Given the description of an element on the screen output the (x, y) to click on. 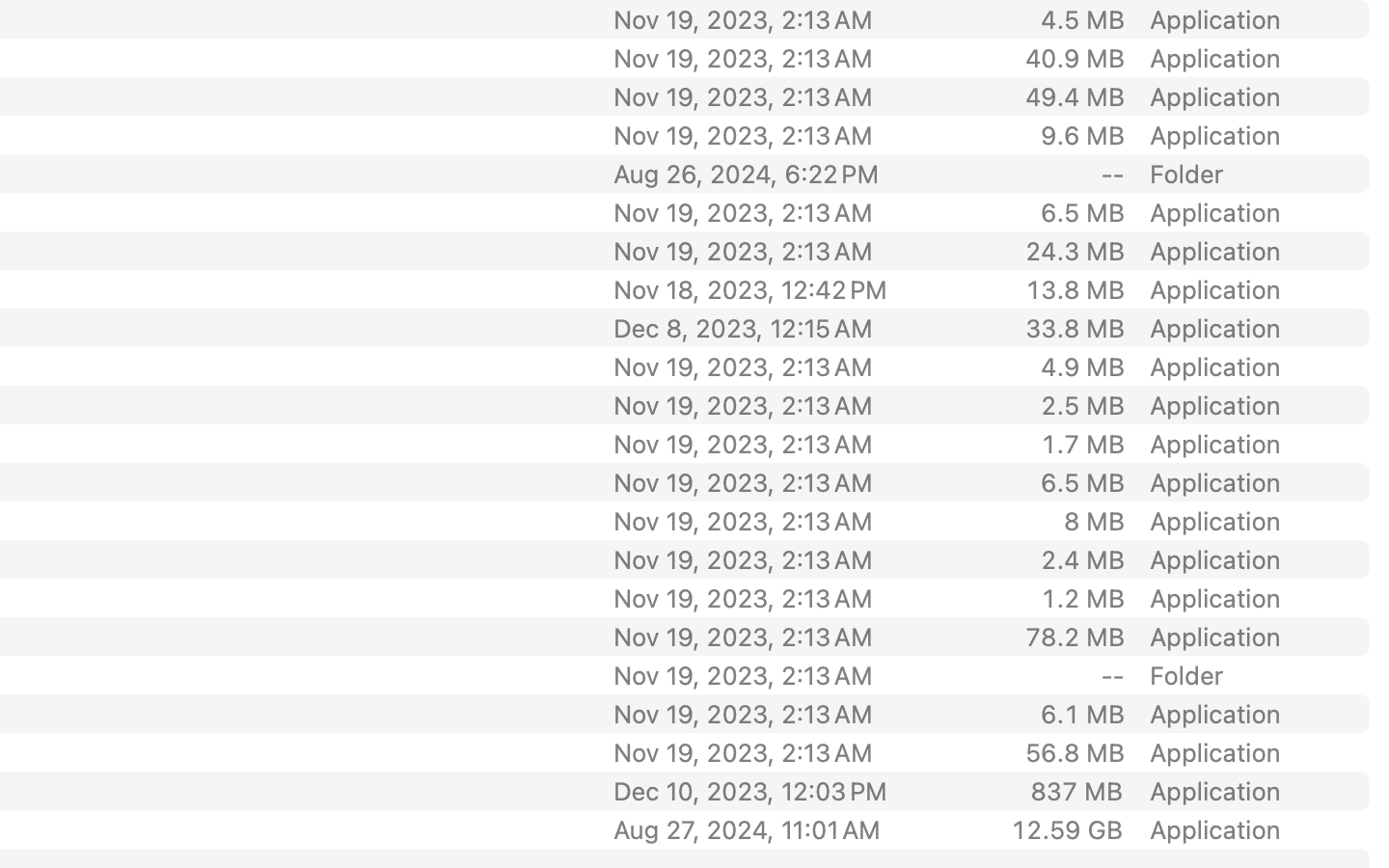
56.8 MB Element type: AXStaticText (1074, 751)
9.6 MB Element type: AXStaticText (1081, 134)
4.5 MB Element type: AXStaticText (1081, 18)
